Given the description of an element on the screen output the (x, y) to click on. 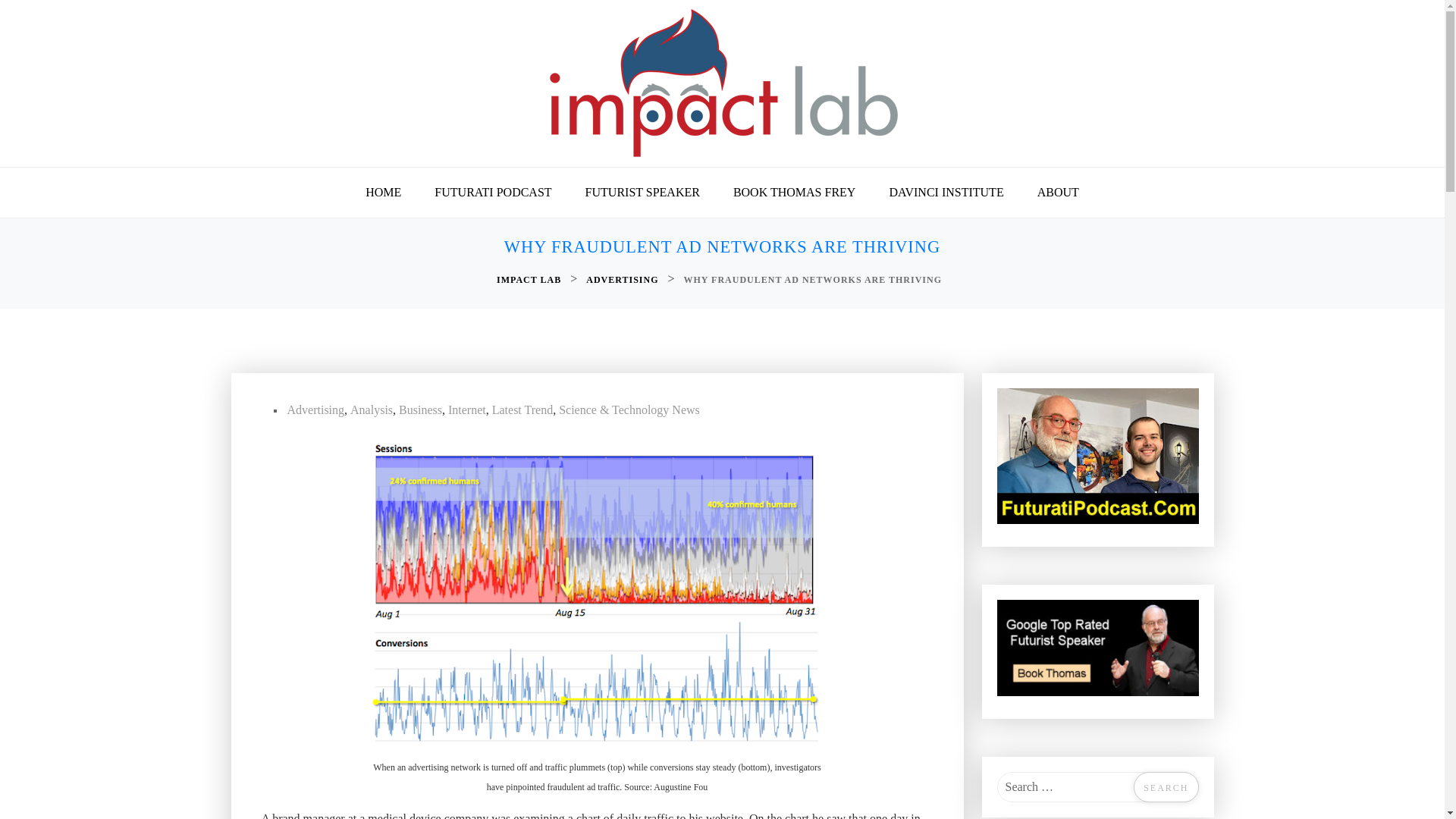
Business (420, 410)
Advertising (314, 410)
IMPACT LAB (530, 279)
Go to the Advertising Category archives. (623, 279)
Internet (467, 410)
Analysis (371, 410)
ADVERTISING (623, 279)
DAVINCI INSTITUTE (945, 192)
HOME (383, 192)
FUTURIST SPEAKER (642, 192)
